Given the description of an element on the screen output the (x, y) to click on. 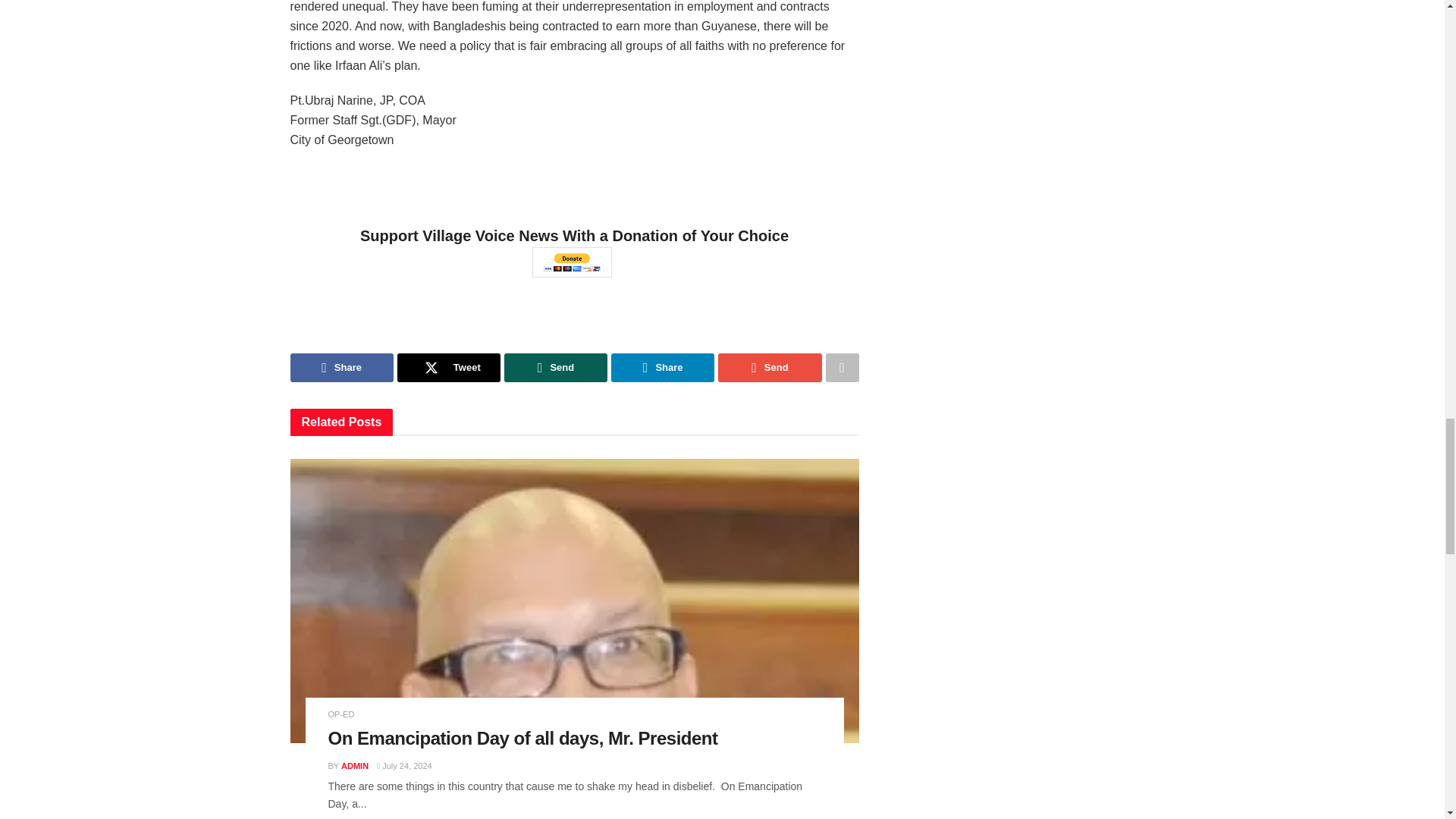
PayPal - The safer, easier way to pay online! (571, 262)
